Given the description of an element on the screen output the (x, y) to click on. 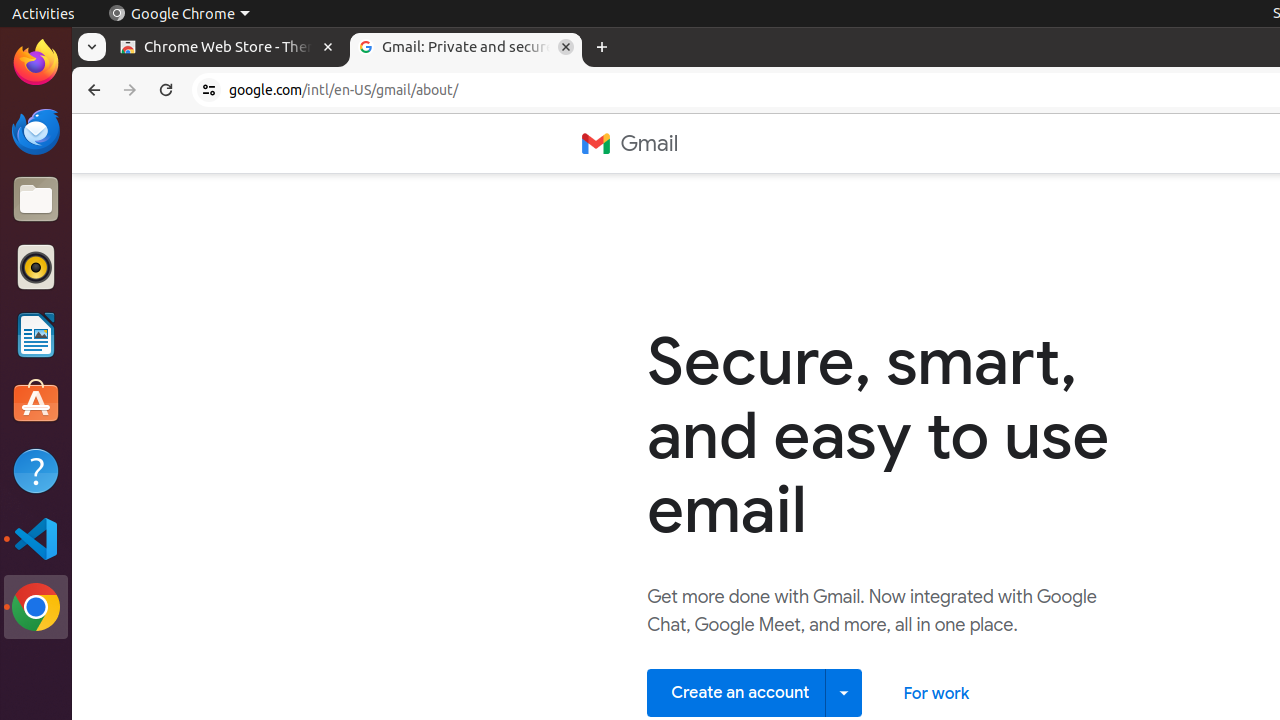
Forward Element type: push-button (130, 90)
Google Chrome Element type: menu (179, 13)
